Given the description of an element on the screen output the (x, y) to click on. 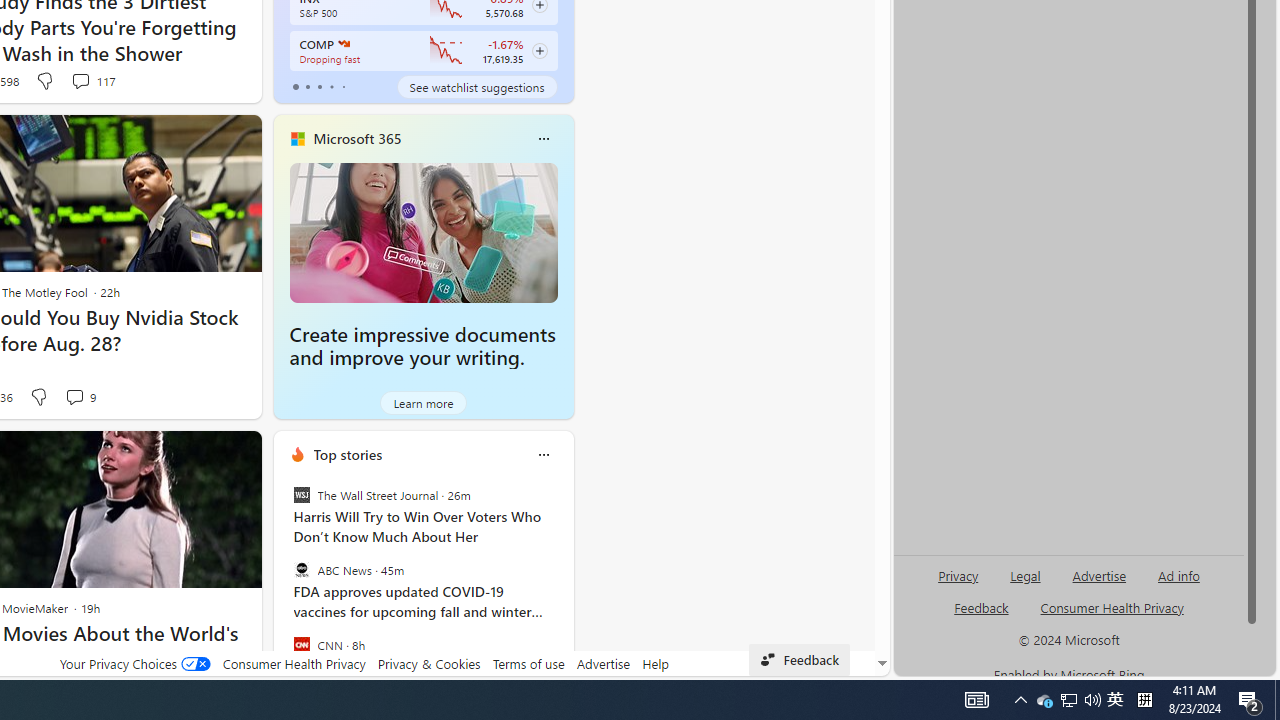
The Wall Street Journal (301, 494)
Privacy & Cookies (429, 663)
Hide this story (201, 454)
previous (283, 583)
tab-4 (342, 86)
See watchlist suggestions (476, 86)
tab-0 (295, 86)
ABC News (301, 570)
AutomationID: genId96 (981, 615)
Top stories (347, 454)
Class: follow-button  m (539, 51)
